Given the description of an element on the screen output the (x, y) to click on. 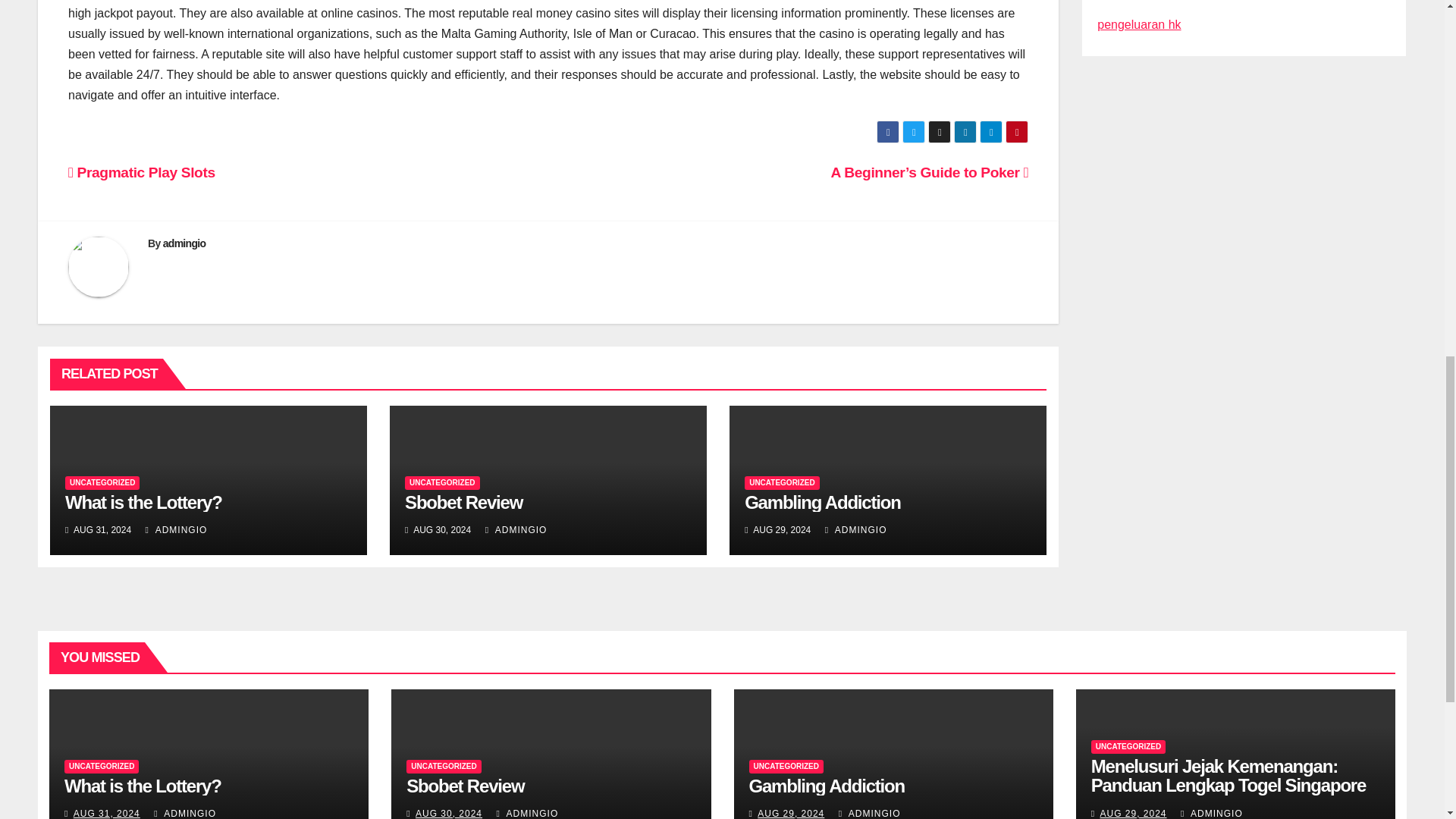
Permalink to: Sbobet Review (465, 785)
Gambling Addiction (822, 502)
ADMINGIO (176, 529)
Permalink to: What is the Lottery? (142, 785)
UNCATEGORIZED (102, 482)
What is the Lottery? (143, 502)
Pragmatic Play Slots (141, 172)
admingio (184, 243)
Permalink to: What is the Lottery? (143, 502)
UNCATEGORIZED (781, 482)
